Given the description of an element on the screen output the (x, y) to click on. 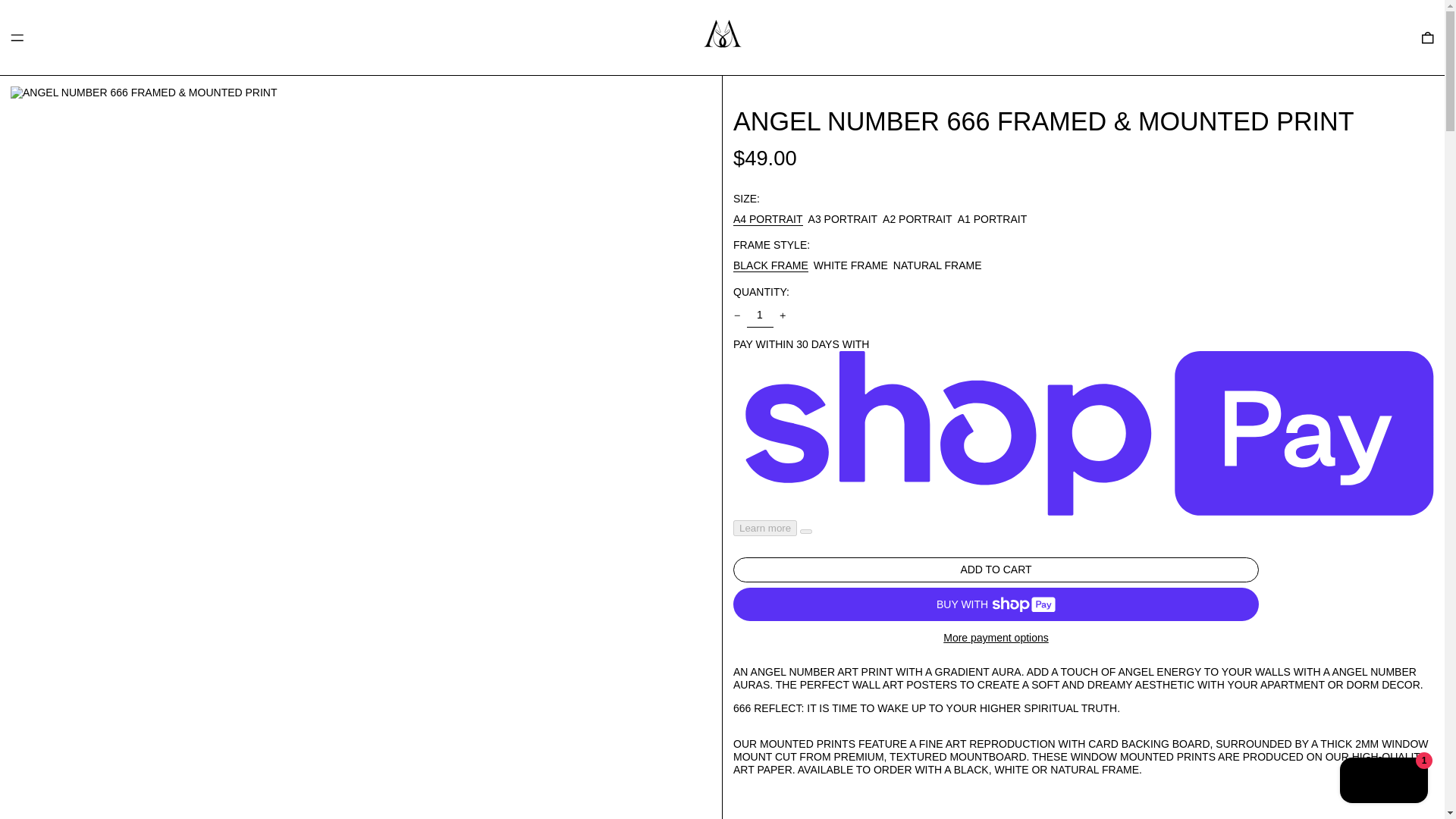
1 (759, 315)
Shopify online store chat (1383, 781)
